Given the description of an element on the screen output the (x, y) to click on. 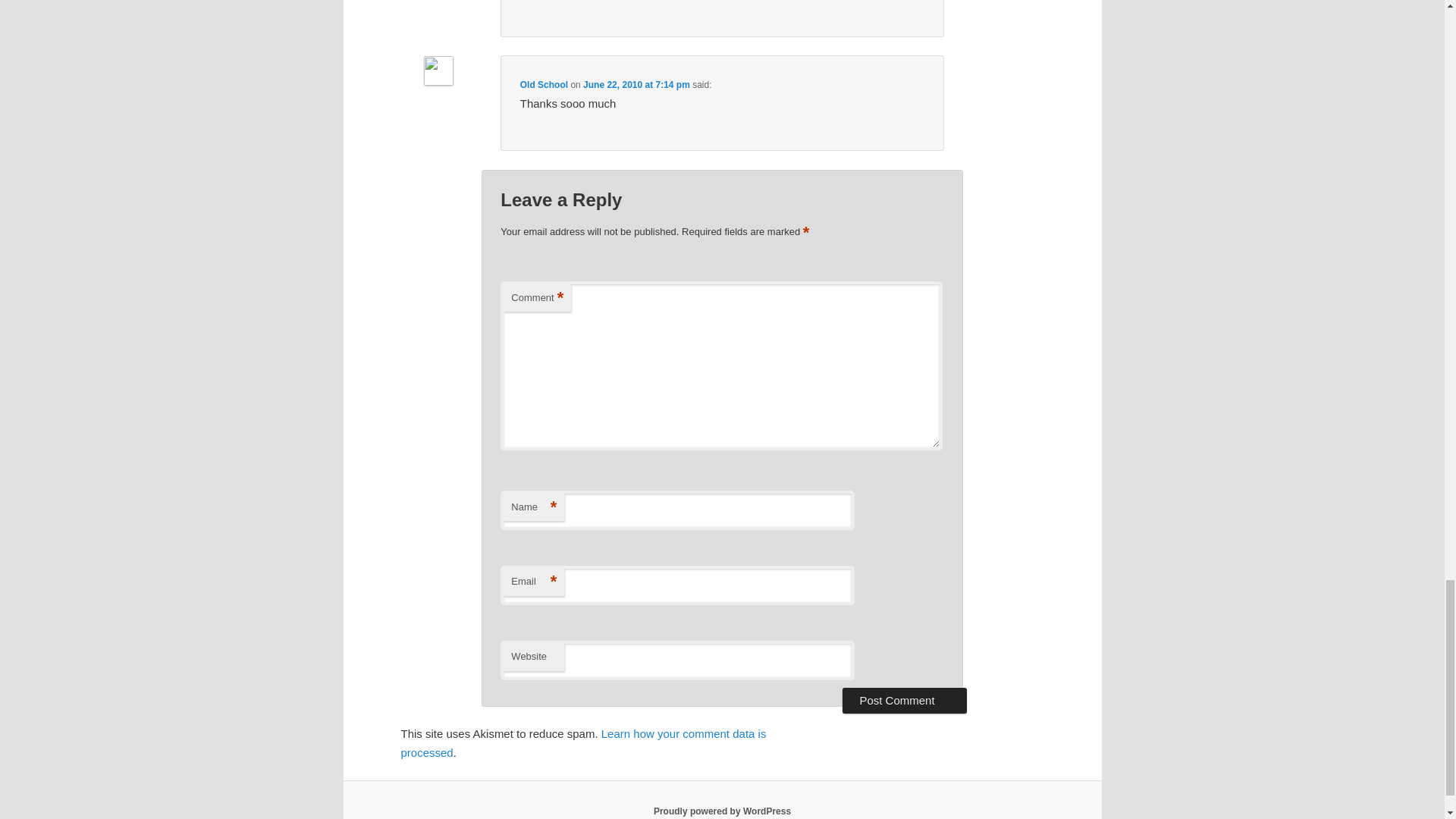
Semantic Personal Publishing Platform (721, 810)
Old School (543, 84)
Post Comment (904, 700)
Proudly powered by WordPress (721, 810)
Post Comment (904, 700)
Learn how your comment data is processed (582, 742)
June 22, 2010 at 7:14 pm (636, 84)
